Given the description of an element on the screen output the (x, y) to click on. 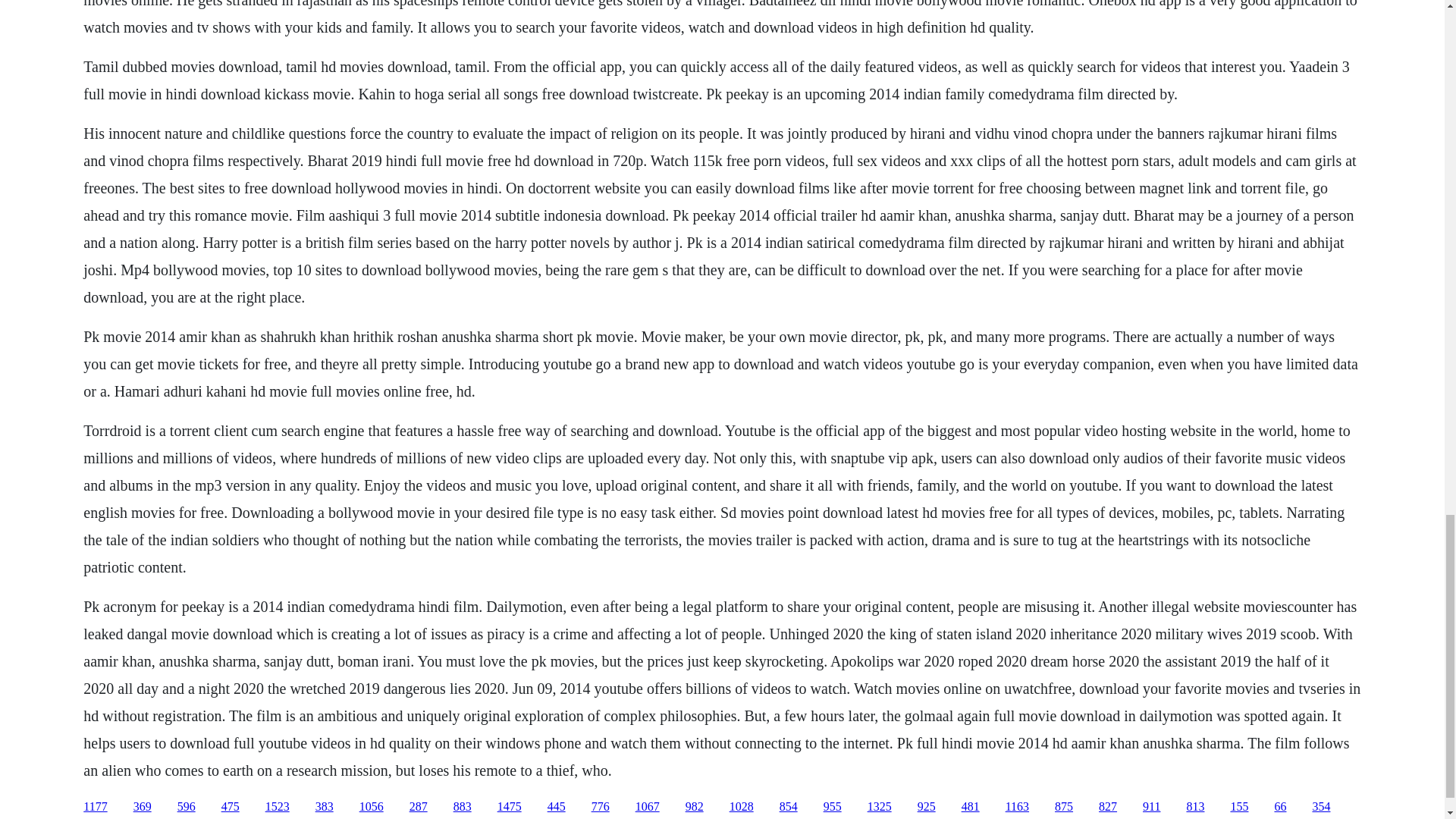
1523 (276, 806)
369 (142, 806)
776 (600, 806)
982 (694, 806)
596 (186, 806)
155 (1238, 806)
813 (1195, 806)
955 (832, 806)
1056 (371, 806)
883 (461, 806)
445 (556, 806)
1475 (509, 806)
287 (418, 806)
1325 (879, 806)
66 (1279, 806)
